Given the description of an element on the screen output the (x, y) to click on. 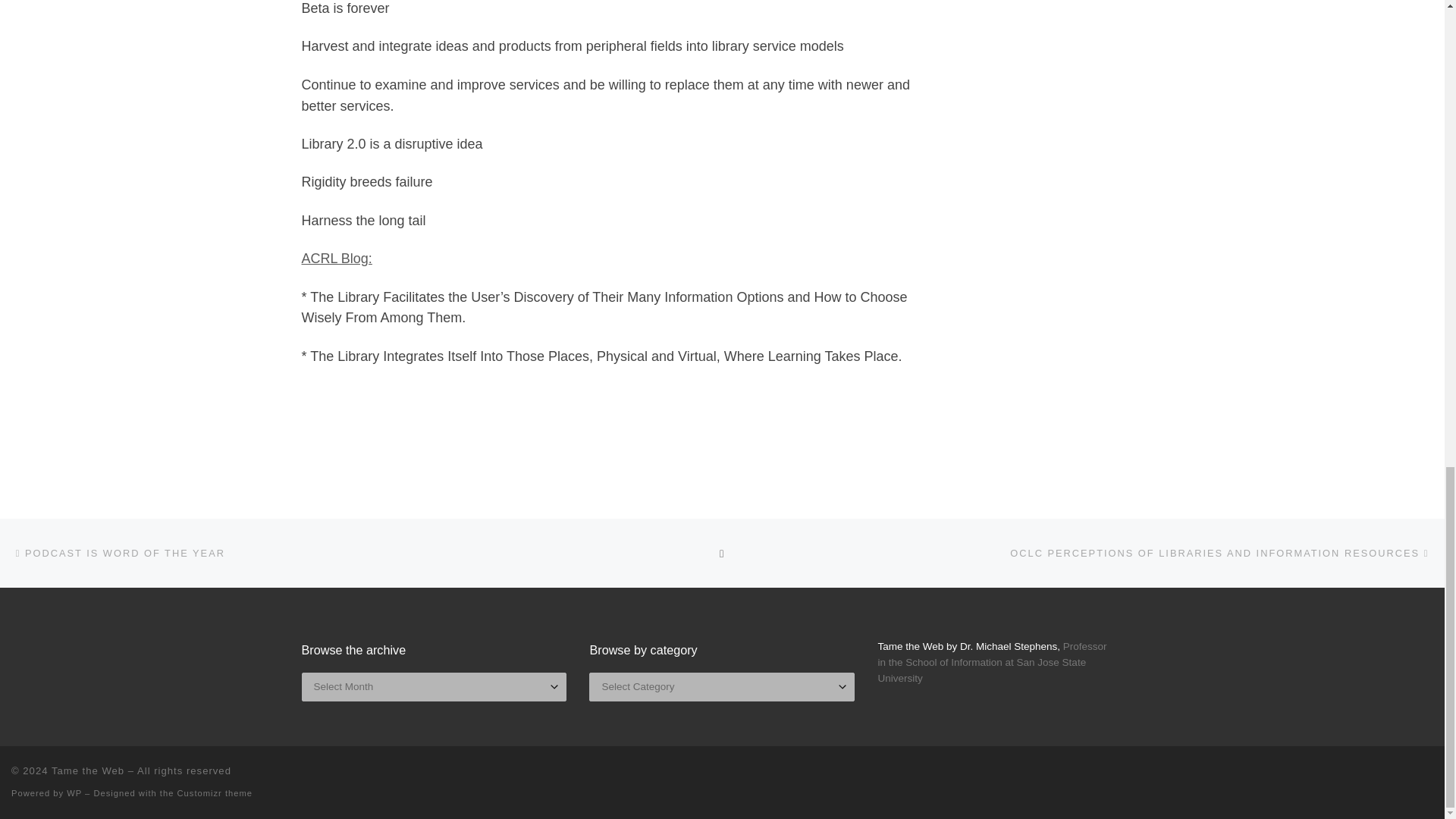
Tame the Web (86, 770)
Customizr theme (215, 792)
ACRL Blog: (336, 258)
Powered by WordPress (73, 792)
Back to post list (722, 552)
